Given the description of an element on the screen output the (x, y) to click on. 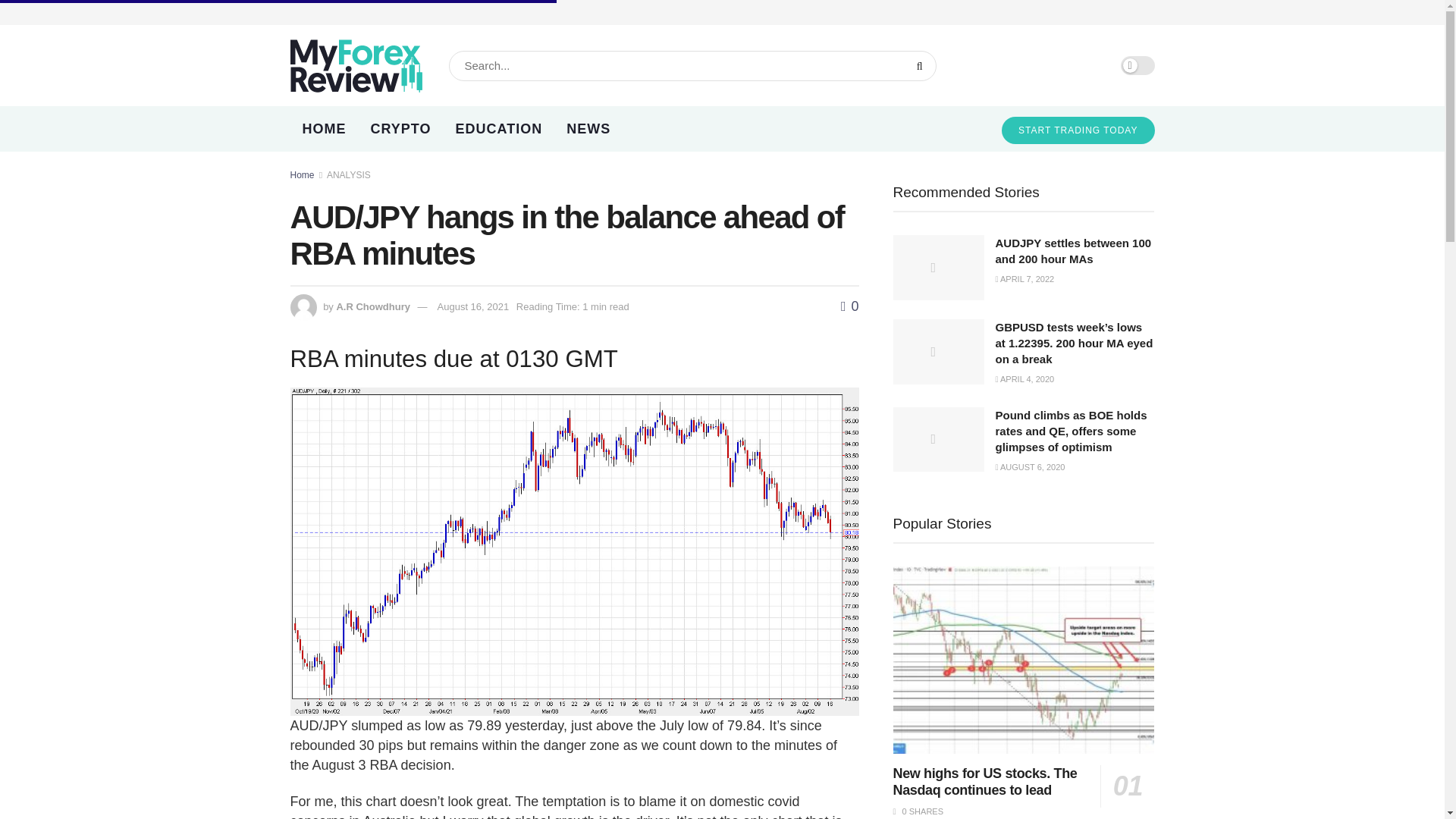
ANALYSIS (348, 174)
EDUCATION (499, 128)
Home (301, 174)
CRYPTO (400, 128)
August 16, 2021 (473, 306)
HOME (323, 128)
A.R Chowdhury (373, 306)
START TRADING TODAY (1077, 130)
0 (850, 305)
NEWS (588, 128)
